Given the description of an element on the screen output the (x, y) to click on. 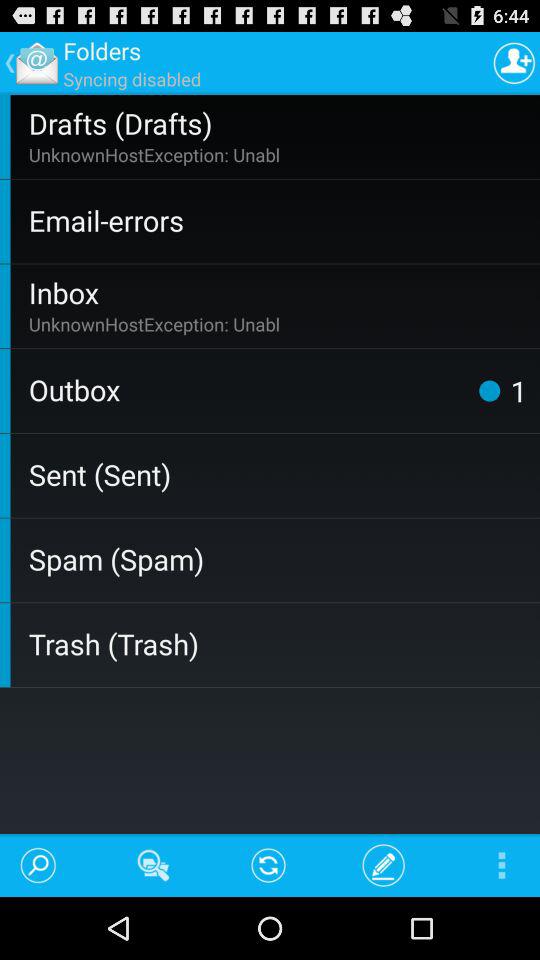
turn on item at the top right corner (514, 62)
